Given the description of an element on the screen output the (x, y) to click on. 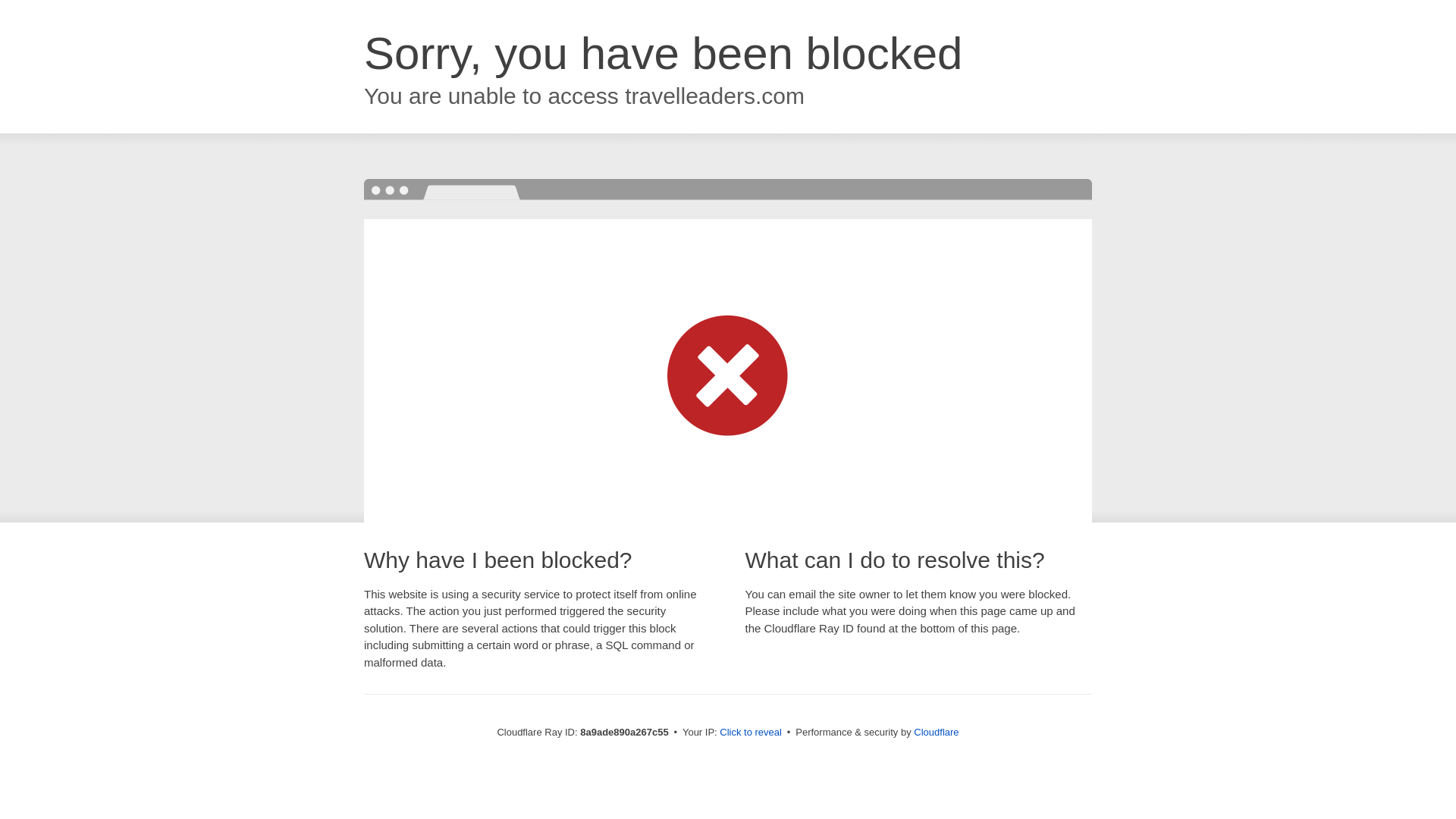
Click to reveal (750, 732)
Cloudflare (936, 731)
